Given the description of an element on the screen output the (x, y) to click on. 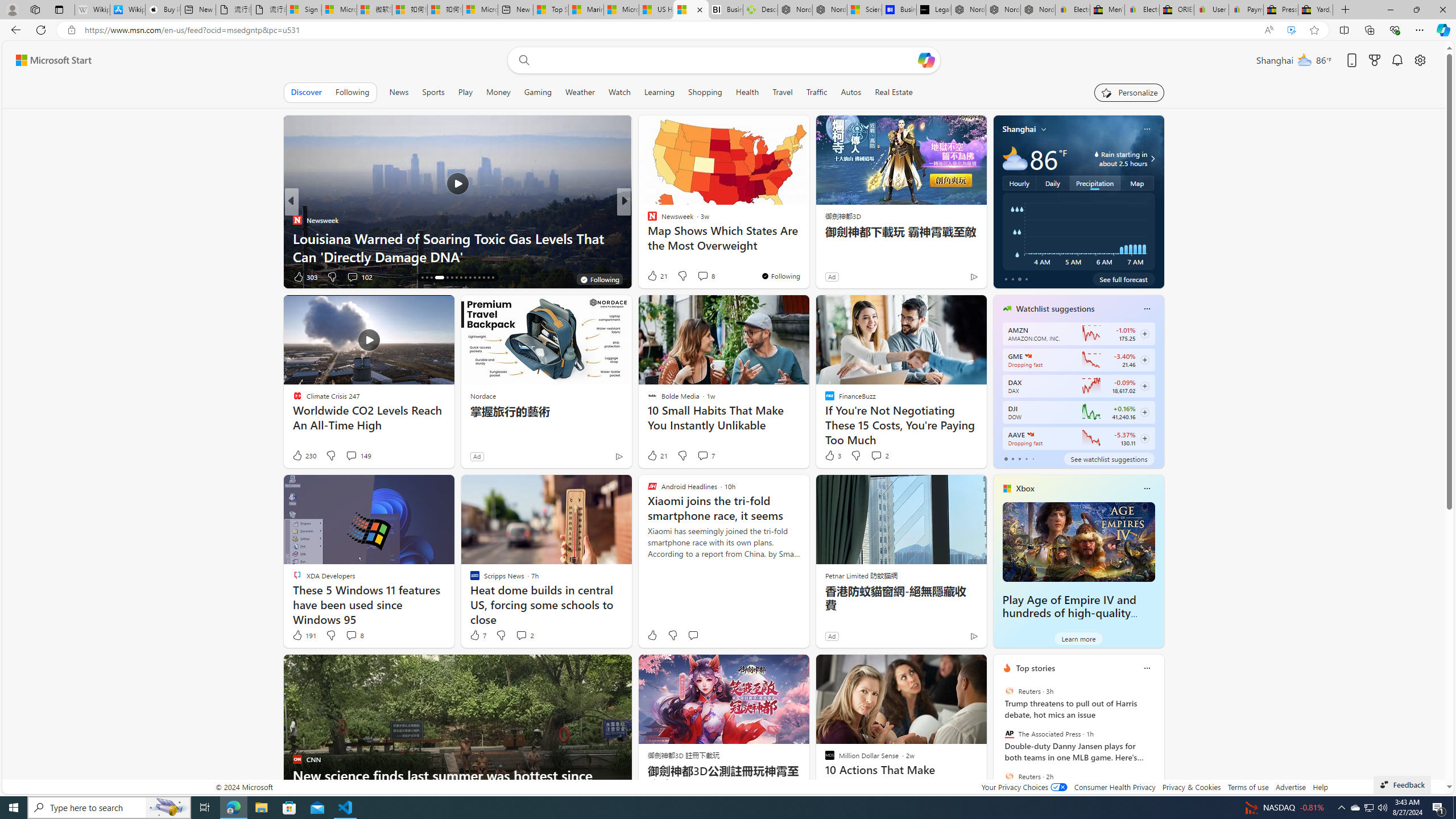
Top stories (1035, 668)
Reuters (1008, 775)
tab-1 (1012, 458)
Hide this story (952, 668)
Daily (1052, 183)
15 Like (652, 276)
Xbox (1025, 488)
